Given the description of an element on the screen output the (x, y) to click on. 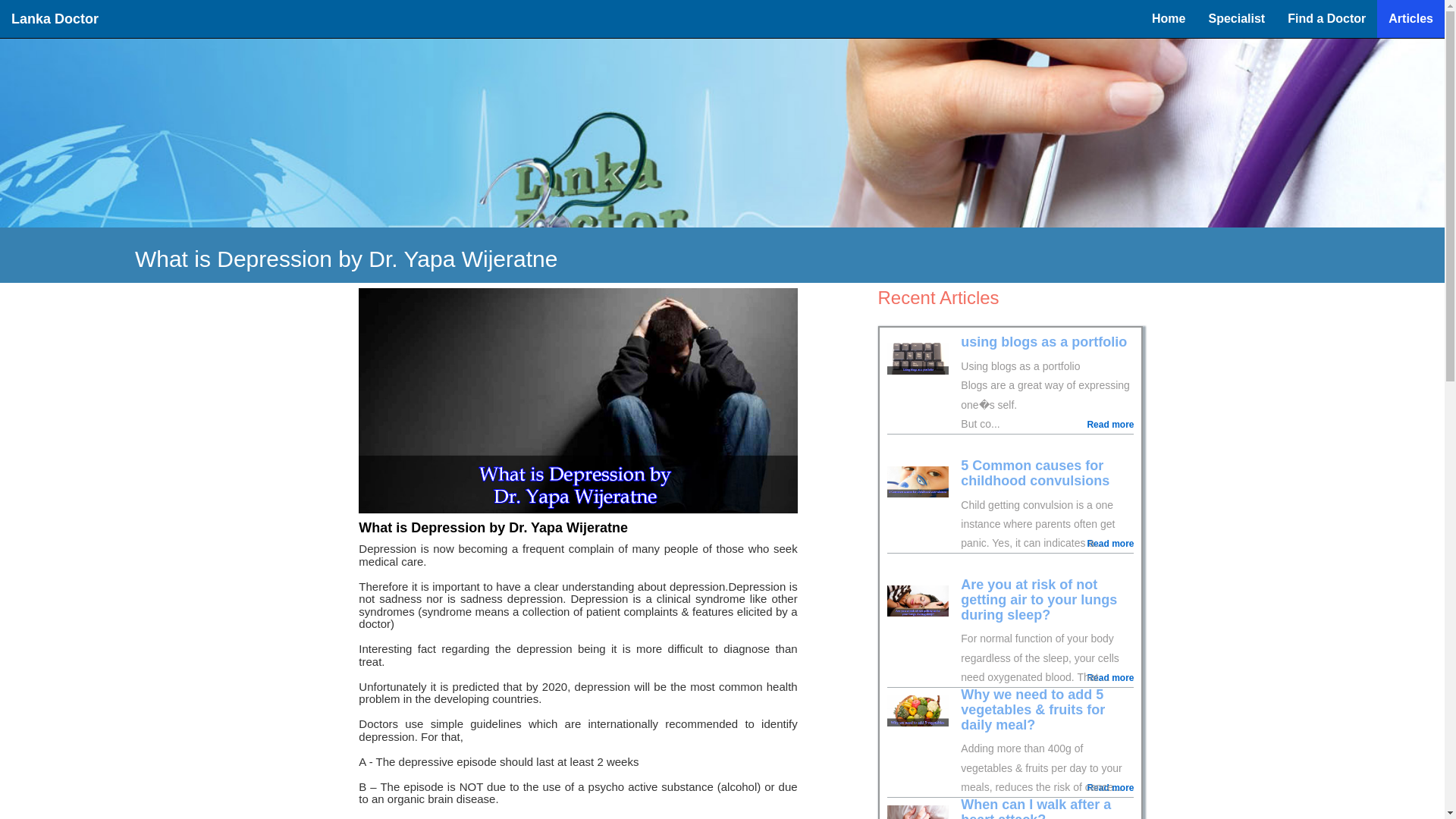
Read more (1110, 677)
Home (1168, 18)
Read more (1110, 543)
using blogs as a portfolio (1043, 341)
When can I walk after a heart attack? (1035, 807)
Specialist (1236, 18)
Lanka Doctor (55, 18)
Read more (1110, 424)
Read more (1110, 788)
5 Common causes for childhood convulsions (1034, 472)
Find a Doctor (1326, 18)
